Given the description of an element on the screen output the (x, y) to click on. 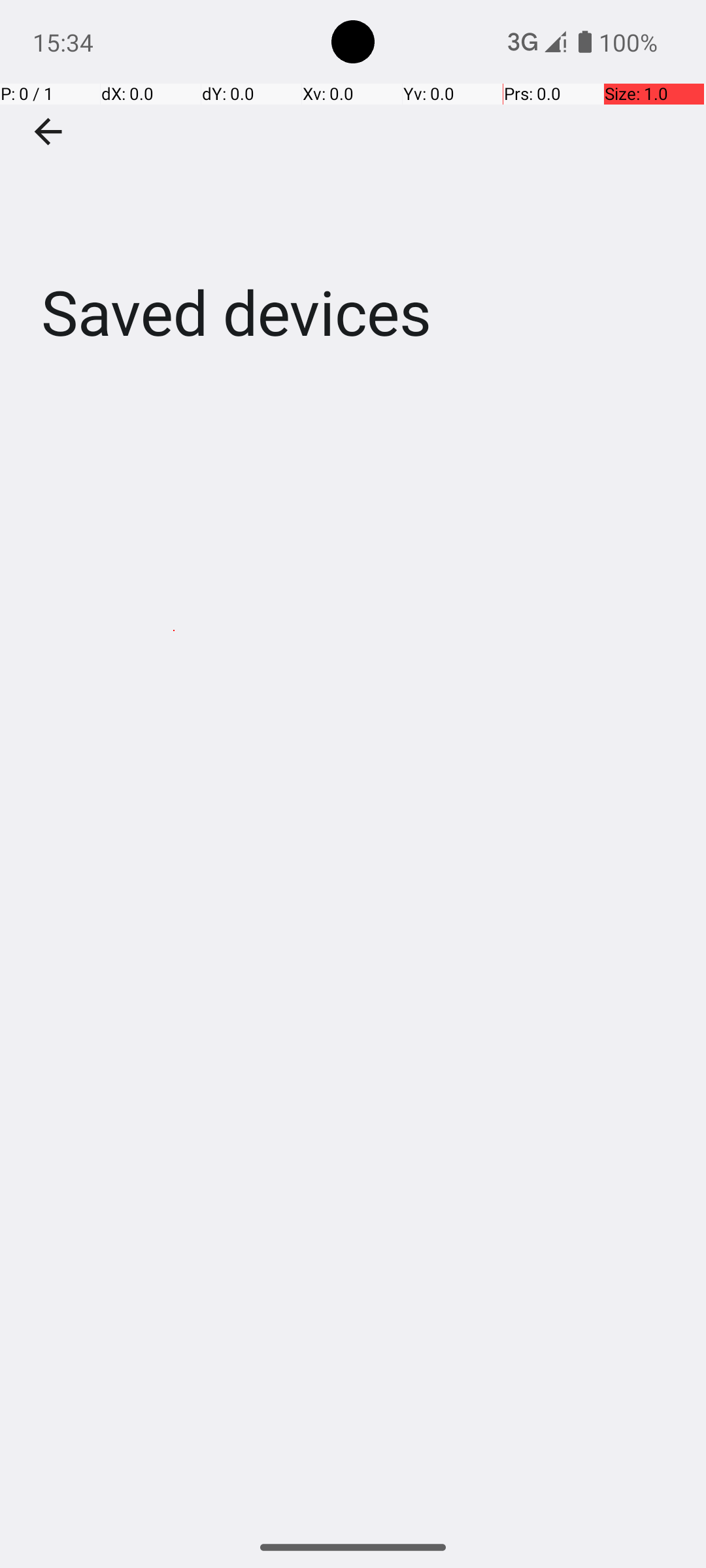
Saved devices Element type: android.widget.FrameLayout (353, 195)
